Given the description of an element on the screen output the (x, y) to click on. 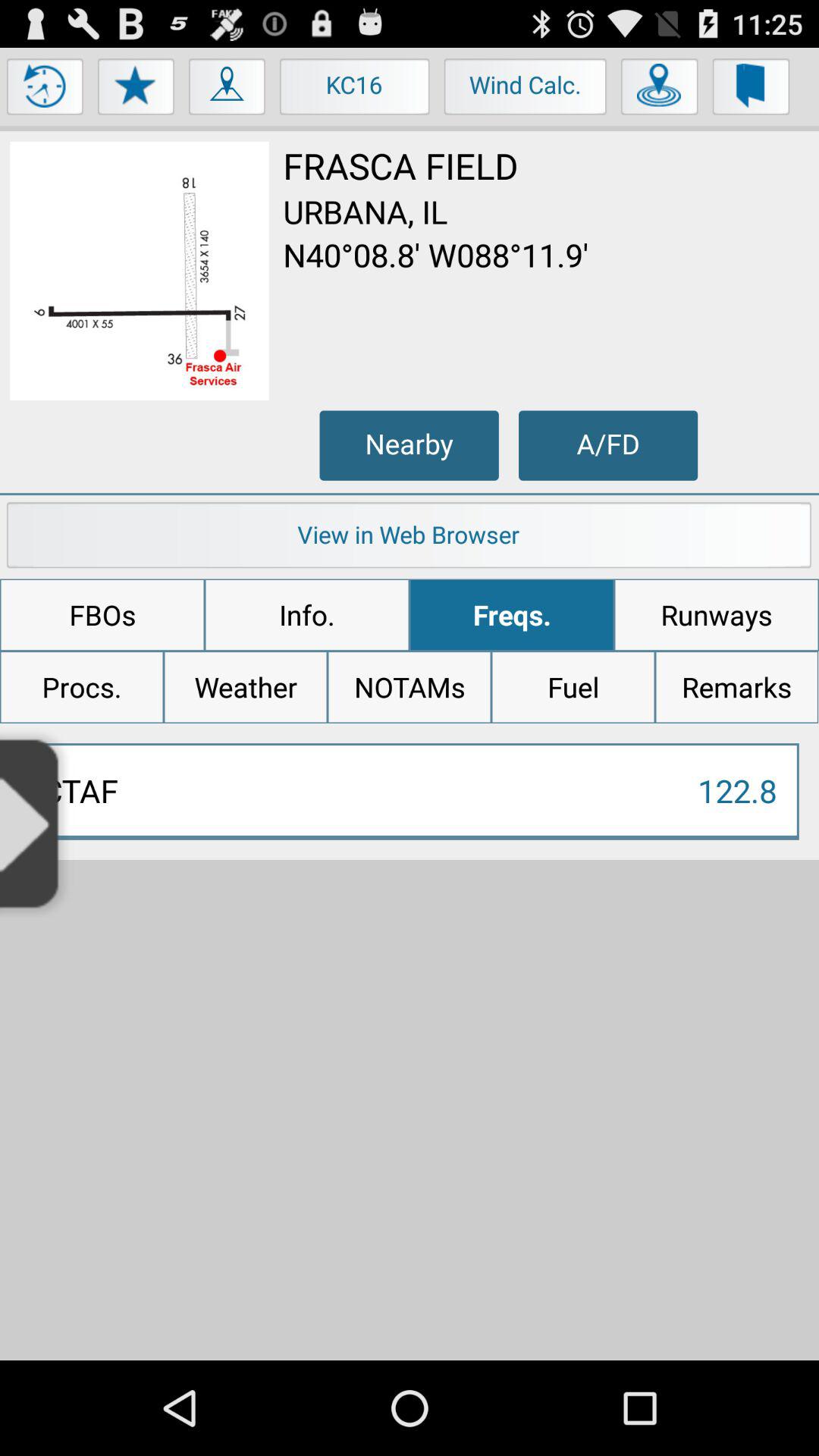
use location services (659, 90)
